Given the description of an element on the screen output the (x, y) to click on. 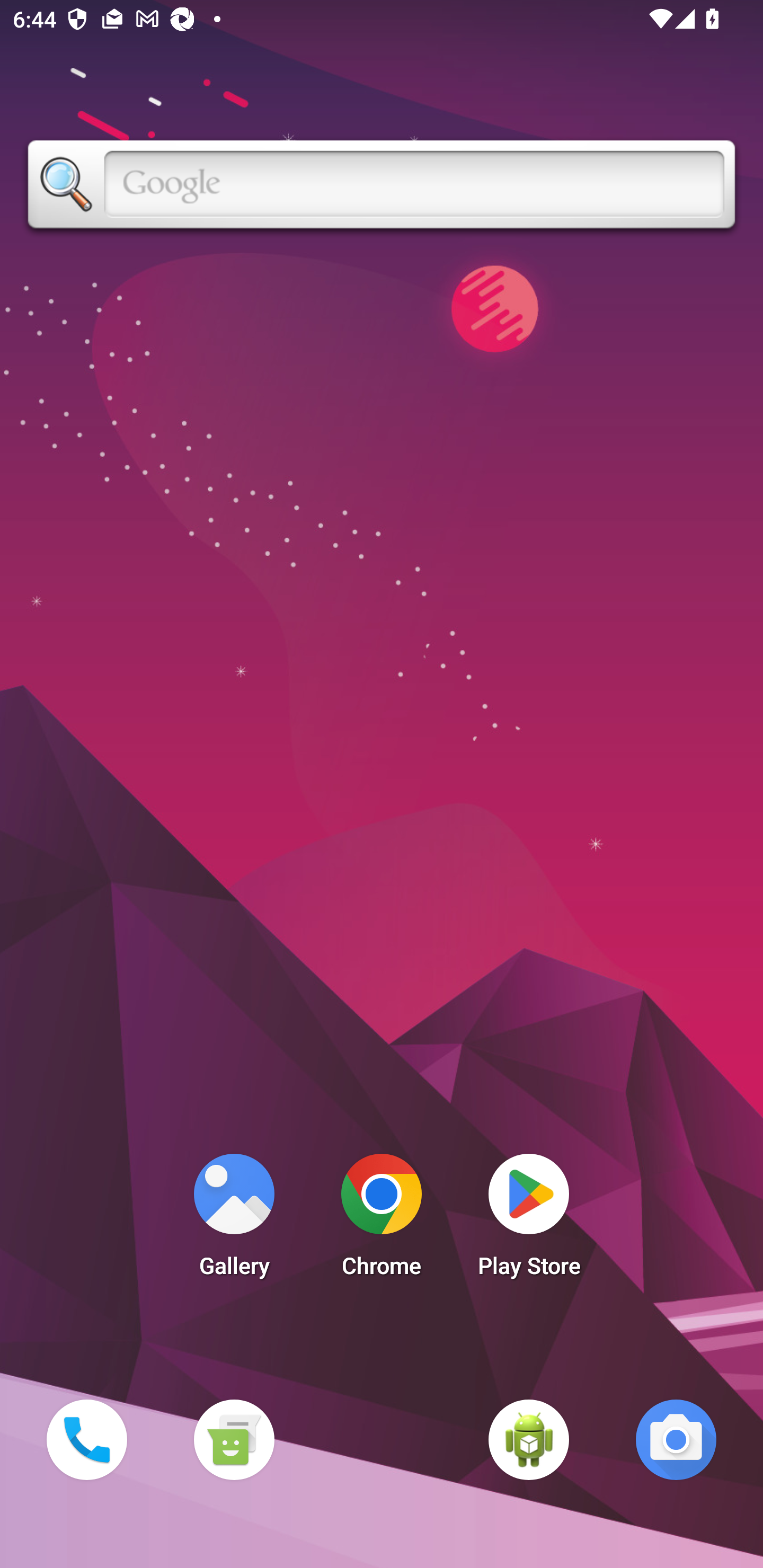
Gallery (233, 1220)
Chrome (381, 1220)
Play Store (528, 1220)
Phone (86, 1439)
Messaging (233, 1439)
WebView Browser Tester (528, 1439)
Camera (676, 1439)
